Given the description of an element on the screen output the (x, y) to click on. 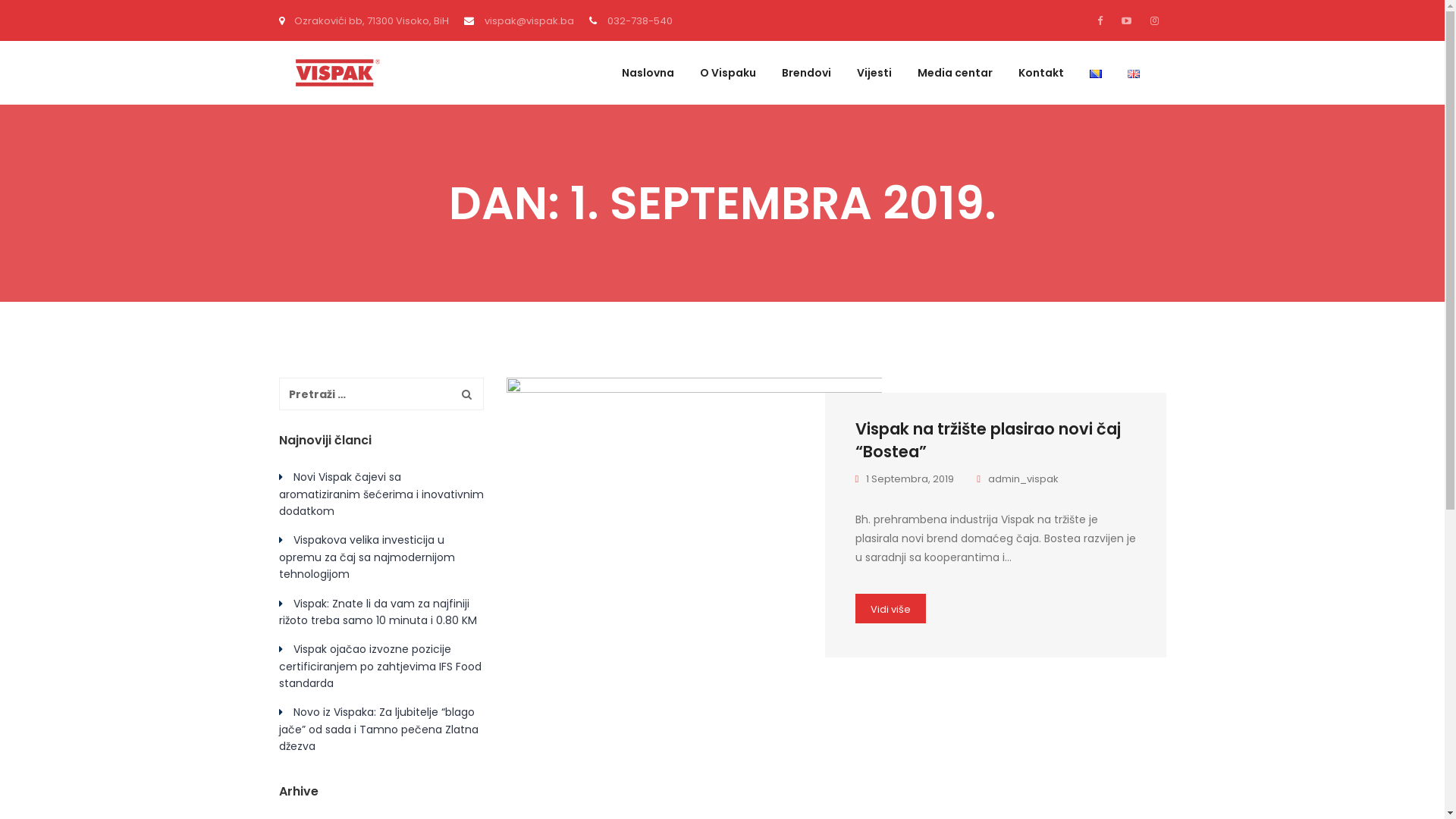
Youtube Element type: hover (1124, 20)
Pretraga Element type: text (466, 393)
1 Septembra, 2019 Element type: text (910, 479)
O Vispaku Element type: text (727, 85)
Brendovi Element type: text (805, 85)
Kontakt Element type: text (1040, 85)
Instagram Element type: hover (1152, 20)
Media centar Element type: text (954, 85)
admin_vispak Element type: text (1017, 479)
Naslovna Element type: text (647, 85)
Facebook Element type: hover (1102, 20)
Vijesti Element type: text (873, 85)
